Given the description of an element on the screen output the (x, y) to click on. 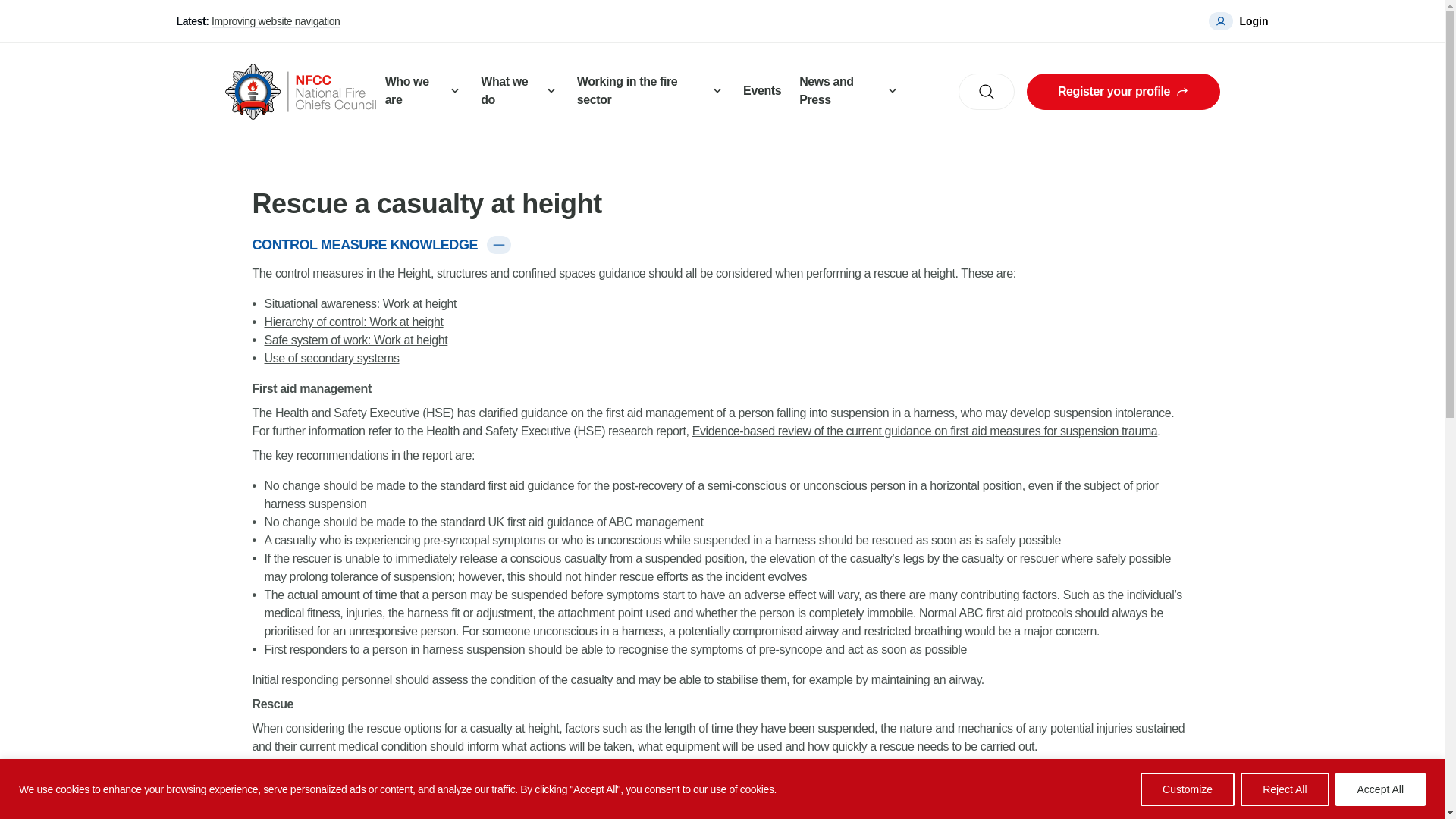
Go to the homepage (299, 90)
Safe system of work: Work at height - HSC (354, 339)
Situational awareness: Work at height - HSC (360, 303)
Use of secondary systems - HSC (330, 358)
Who we are (423, 91)
Login (1238, 21)
Customize (1187, 788)
Accept All (1380, 788)
Login (1238, 21)
Reject All (1283, 788)
Improving website navigation (275, 21)
Hierarchy of control: Work at height - HSC (352, 321)
